Given the description of an element on the screen output the (x, y) to click on. 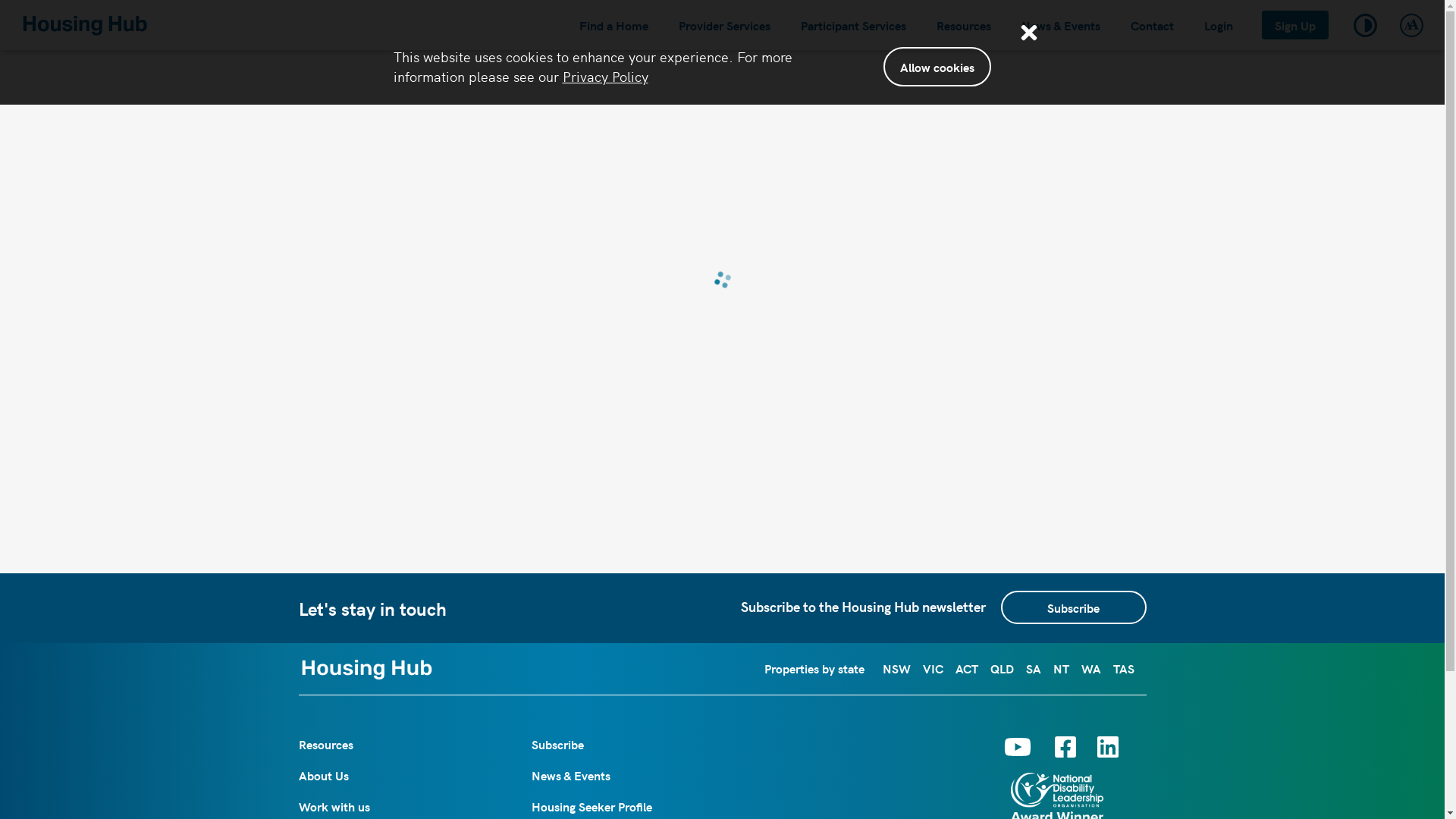
Privacy Policy Element type: text (605, 75)
Contact Element type: text (1151, 24)
NT Element type: text (1060, 667)
News & Events Element type: text (1060, 24)
Sign Up Element type: text (1294, 24)
Contact Element type: text (1151, 24)
Subscribe Element type: text (1073, 607)
Find a Home Element type: text (613, 24)
ACT Element type: text (966, 667)
Subscribe Element type: text (557, 743)
News & Events Element type: text (1060, 24)
Housing Seeker Profile Element type: text (591, 806)
Participant Services Element type: text (853, 24)
Login Element type: text (1218, 24)
Resources Element type: text (325, 743)
Resources Element type: text (963, 24)
QLD Element type: text (1001, 667)
VIC Element type: text (932, 667)
SA Element type: text (1032, 667)
Allow cookies Element type: text (936, 66)
About Us Element type: text (323, 774)
Work with us Element type: text (334, 806)
Find a Home Element type: text (613, 24)
TAS Element type: text (1123, 667)
News & Events Element type: text (570, 774)
Provider Services Element type: text (724, 24)
Login Element type: text (1218, 24)
WA Element type: text (1091, 667)
NSW Element type: text (896, 667)
